Given the description of an element on the screen output the (x, y) to click on. 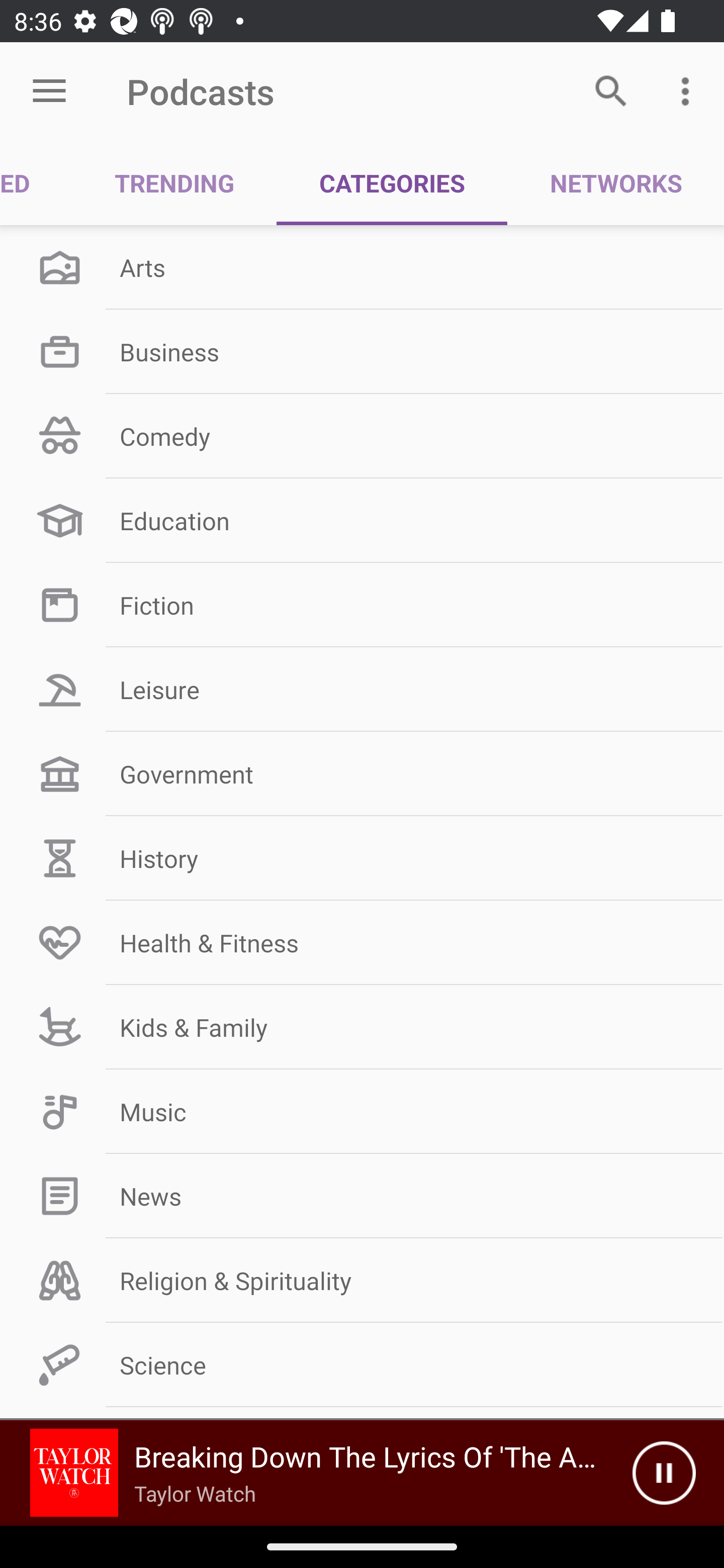
Open menu (49, 91)
Search (611, 90)
More options (688, 90)
TRENDING (174, 183)
CATEGORIES (391, 183)
NETWORKS (615, 183)
Arts (362, 266)
Business (362, 350)
Comedy (362, 435)
Education (362, 520)
Fiction (362, 604)
Leisure (362, 689)
Government (362, 774)
History (362, 858)
Health & Fitness (362, 942)
Kids & Family (362, 1026)
Music (362, 1111)
News (362, 1196)
Religion & Spirituality (362, 1280)
Science (362, 1364)
Pause (663, 1472)
